Given the description of an element on the screen output the (x, y) to click on. 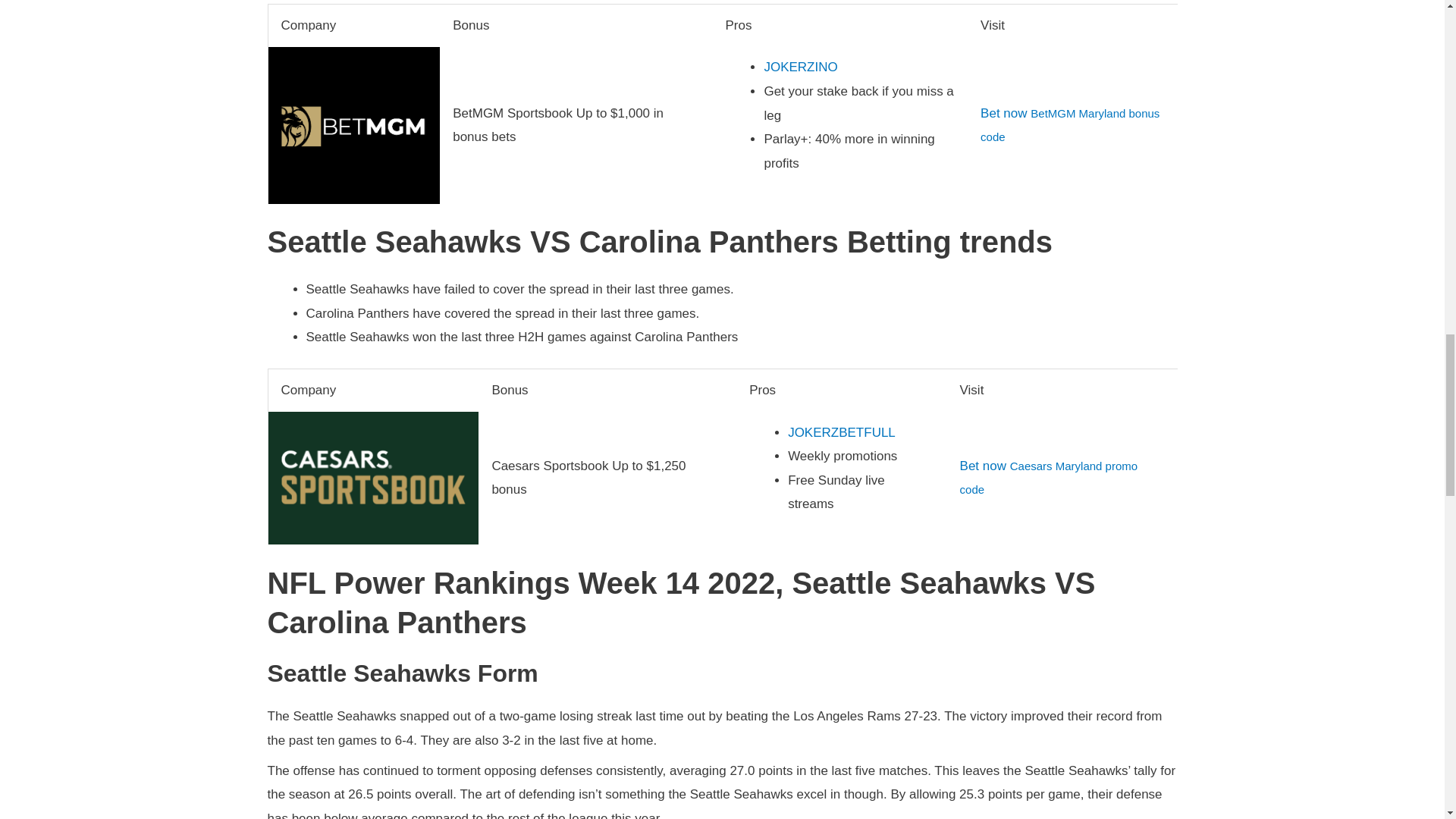
JOKERZINO (799, 66)
Bet now (1002, 113)
BetMGM Maryland bonus code (1068, 125)
Bet now (982, 465)
JOKERZBETFULL (841, 432)
